Given the description of an element on the screen output the (x, y) to click on. 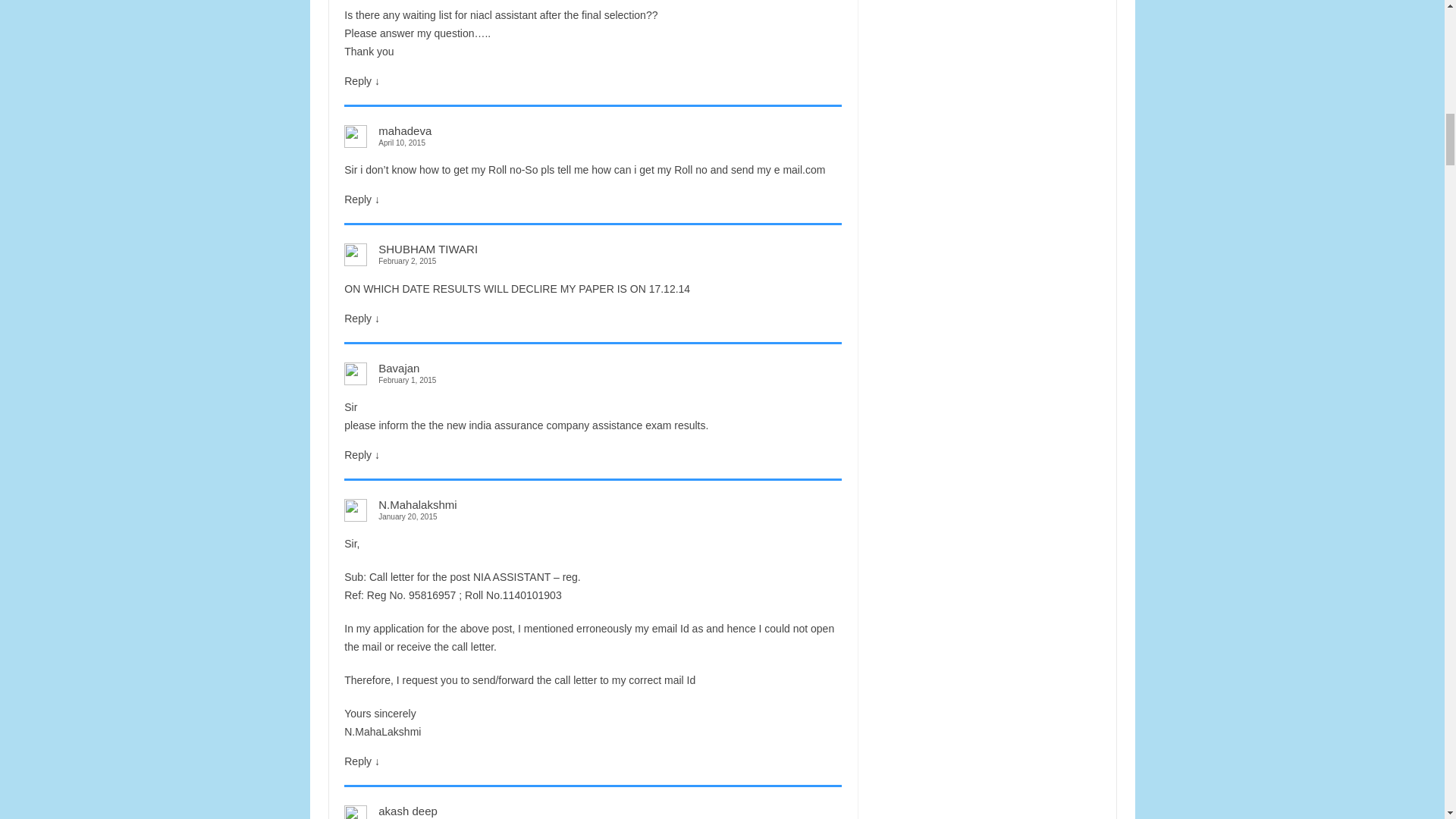
February 2, 2015 (592, 260)
January 20, 2015 (592, 516)
April 10, 2015 (592, 142)
February 1, 2015 (592, 379)
